Given the description of an element on the screen output the (x, y) to click on. 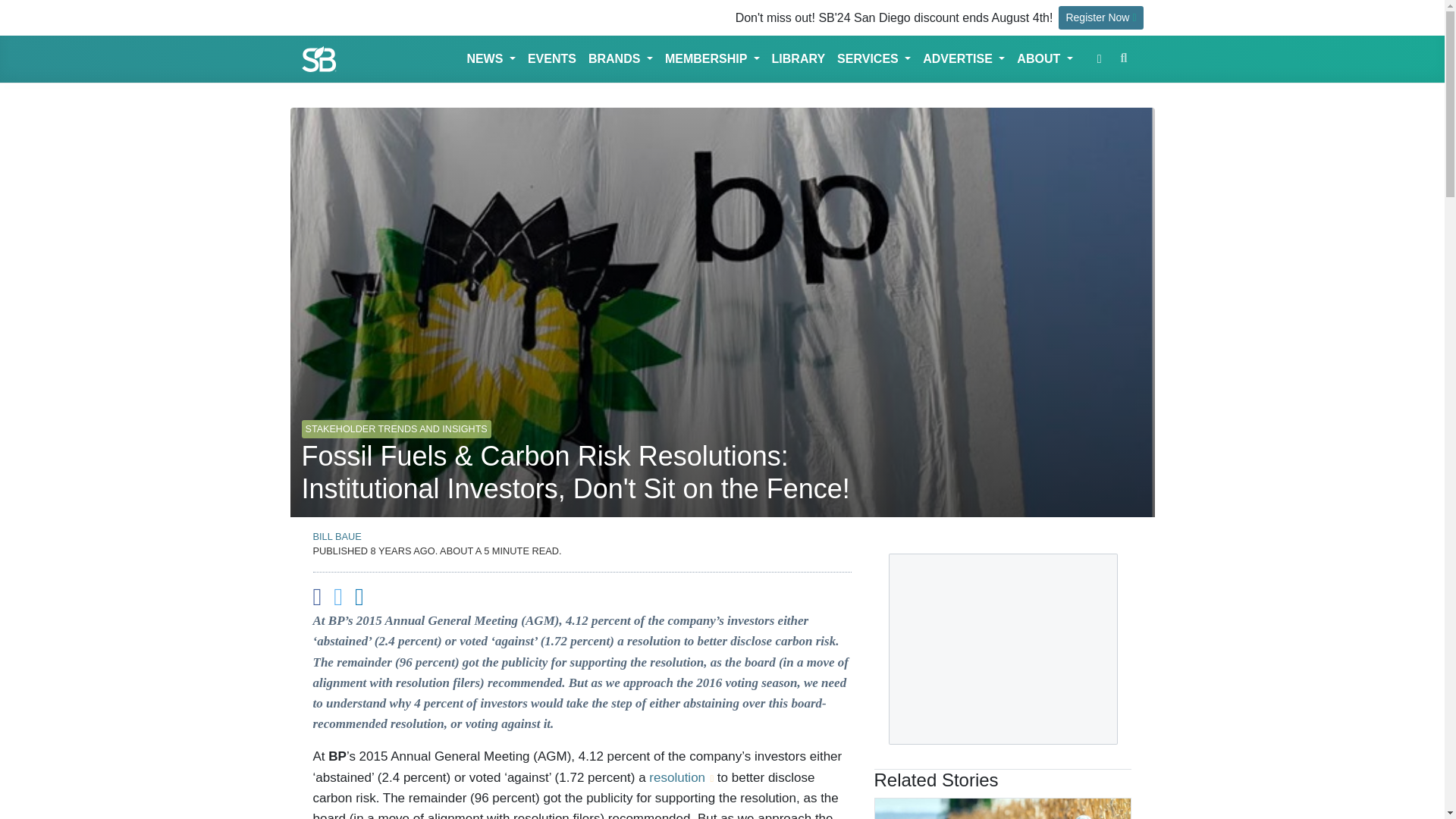
NEWS (490, 59)
EVENTS (551, 59)
BILL BAUE (337, 536)
resolution (681, 777)
LIBRARY (798, 59)
BRANDS (620, 59)
SERVICES (874, 59)
ABOUT (1044, 59)
Register Now (1100, 17)
3rd party ad content (1002, 648)
MEMBERSHIP (712, 59)
STAKEHOLDER TRENDS AND INSIGHTS (396, 422)
ADVERTISE (963, 59)
